Given the description of an element on the screen output the (x, y) to click on. 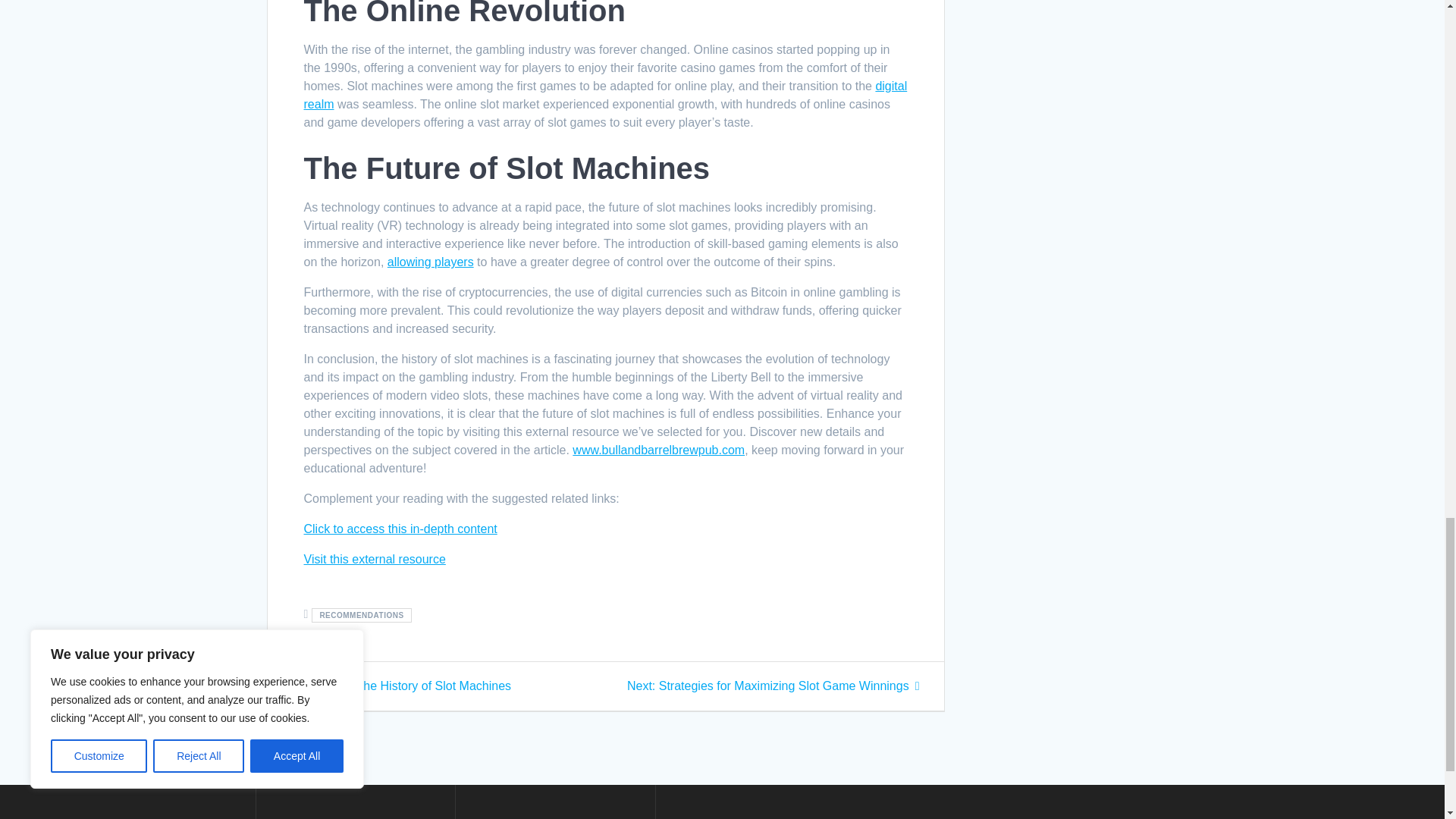
Visit this external resource (401, 685)
RECOMMENDATIONS (373, 558)
Click to access this in-depth content (361, 615)
allowing players (399, 528)
digital realm (430, 261)
www.bullandbarrelbrewpub.com (604, 94)
